Given the description of an element on the screen output the (x, y) to click on. 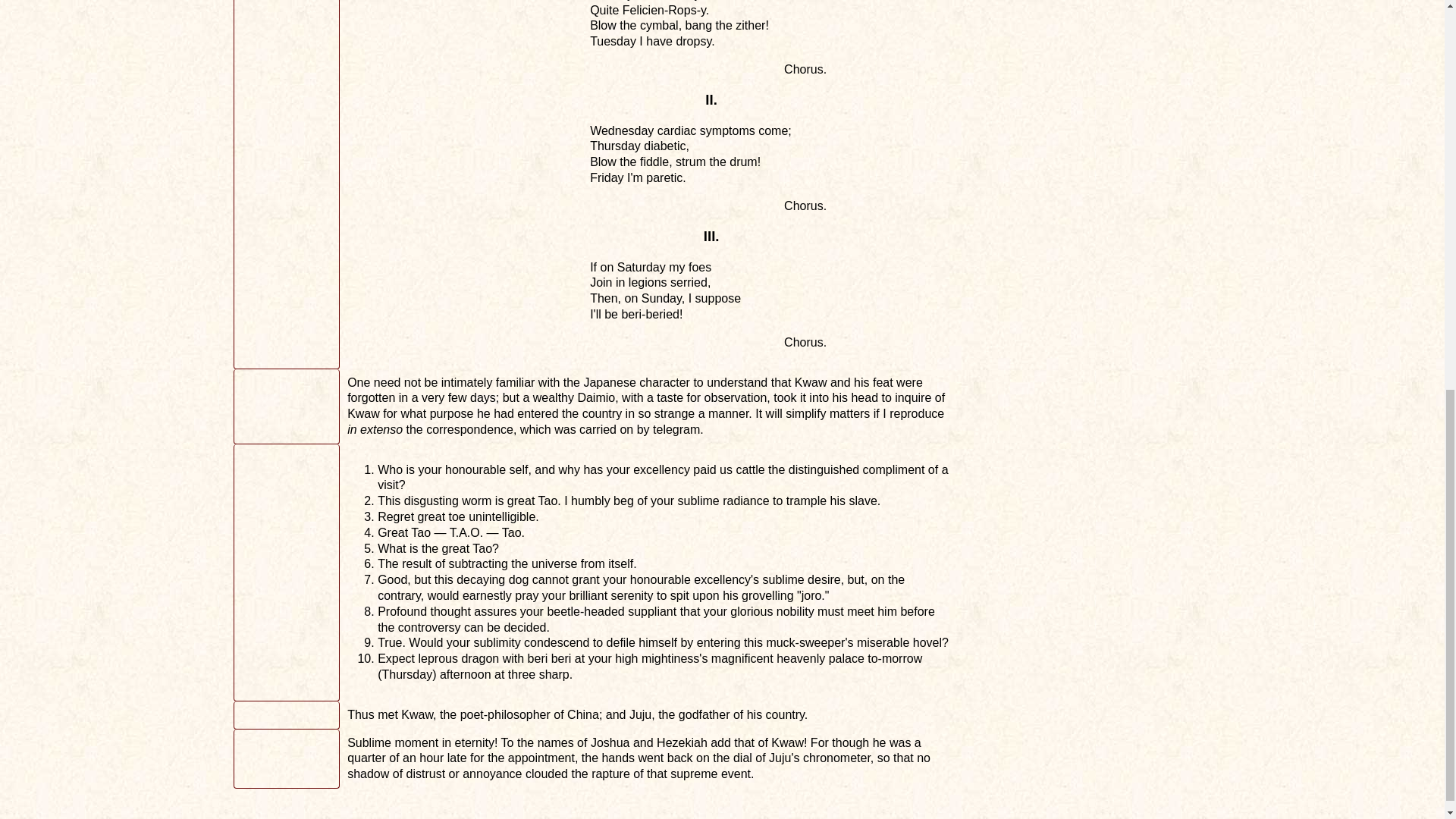
liber 41, 2:12 (285, 715)
liber 41, 2:10 (285, 406)
liber 41, 2:13 (285, 758)
